Given the description of an element on the screen output the (x, y) to click on. 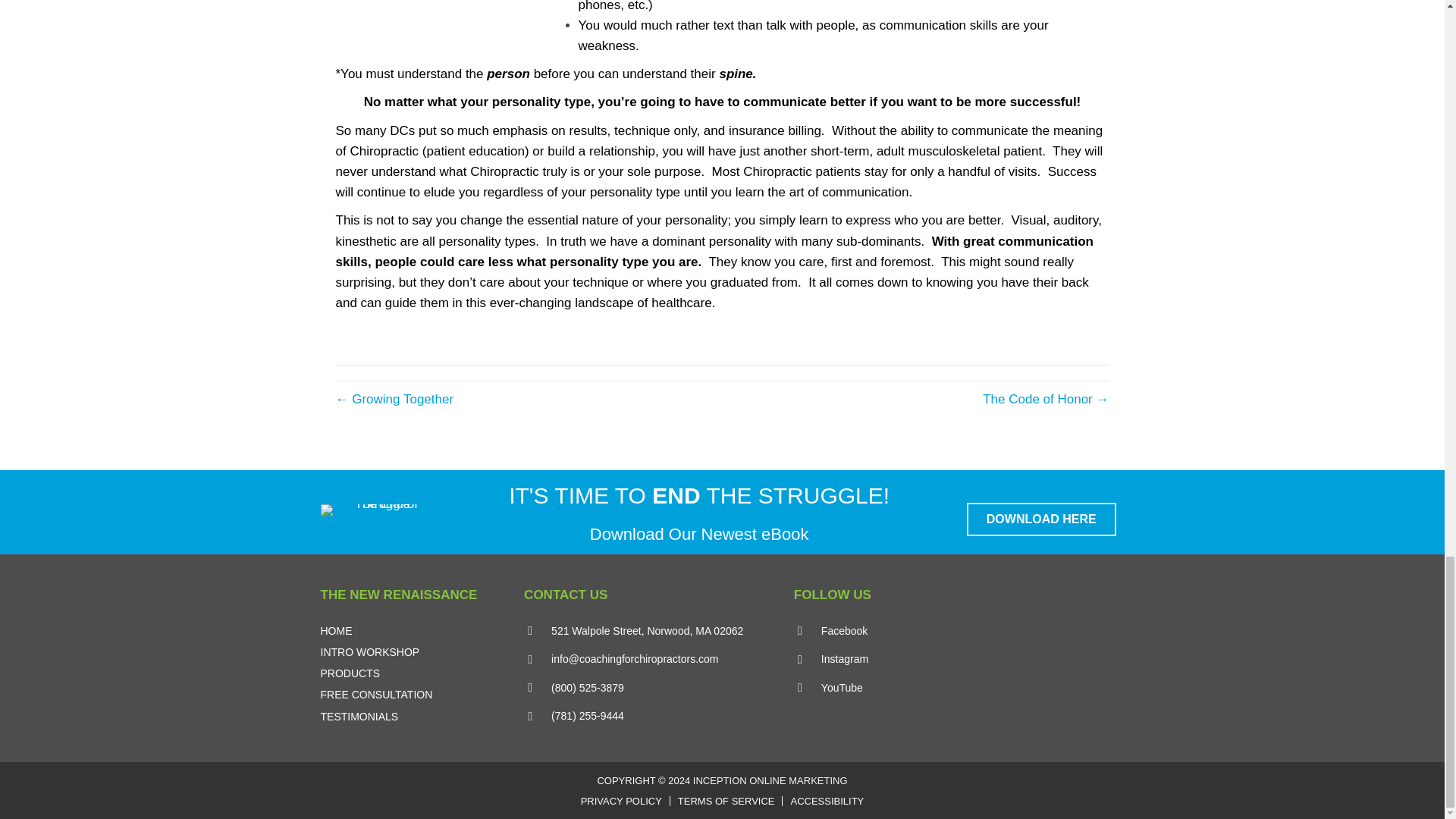
The-End-of-Struggle (379, 510)
dog (448, 12)
